Given the description of an element on the screen output the (x, y) to click on. 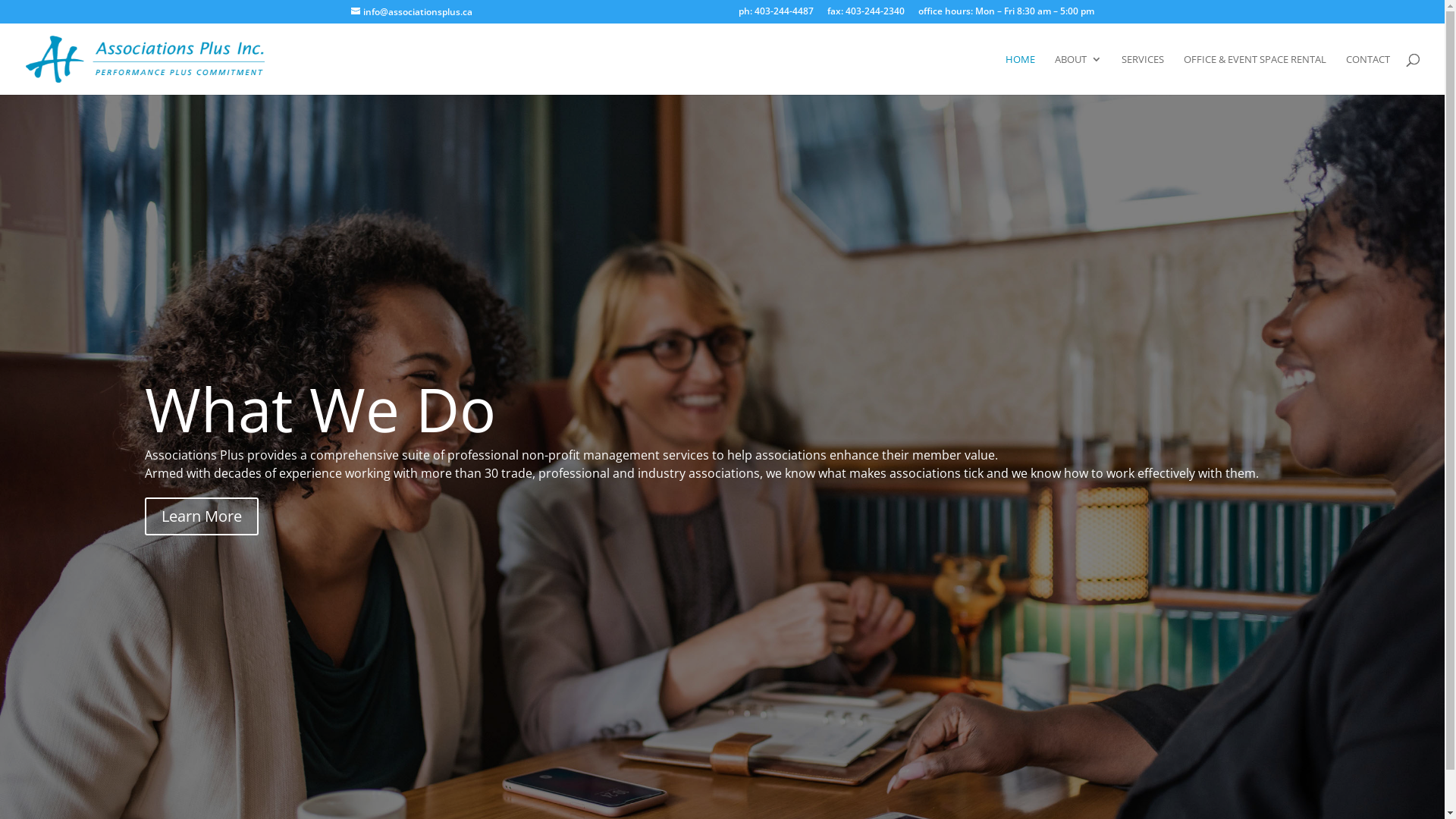
OFFICE & EVENT SPACE RENTAL Element type: text (1254, 73)
CONTACT Element type: text (1368, 73)
info@associationsplus.ca Element type: text (410, 11)
fax: 403-244-2340 Element type: text (864, 14)
Learn More Element type: text (200, 516)
ABOUT Element type: text (1077, 73)
HOME Element type: text (1020, 73)
ph: 403-244-4487 Element type: text (775, 14)
SERVICES Element type: text (1142, 73)
